Given the description of an element on the screen output the (x, y) to click on. 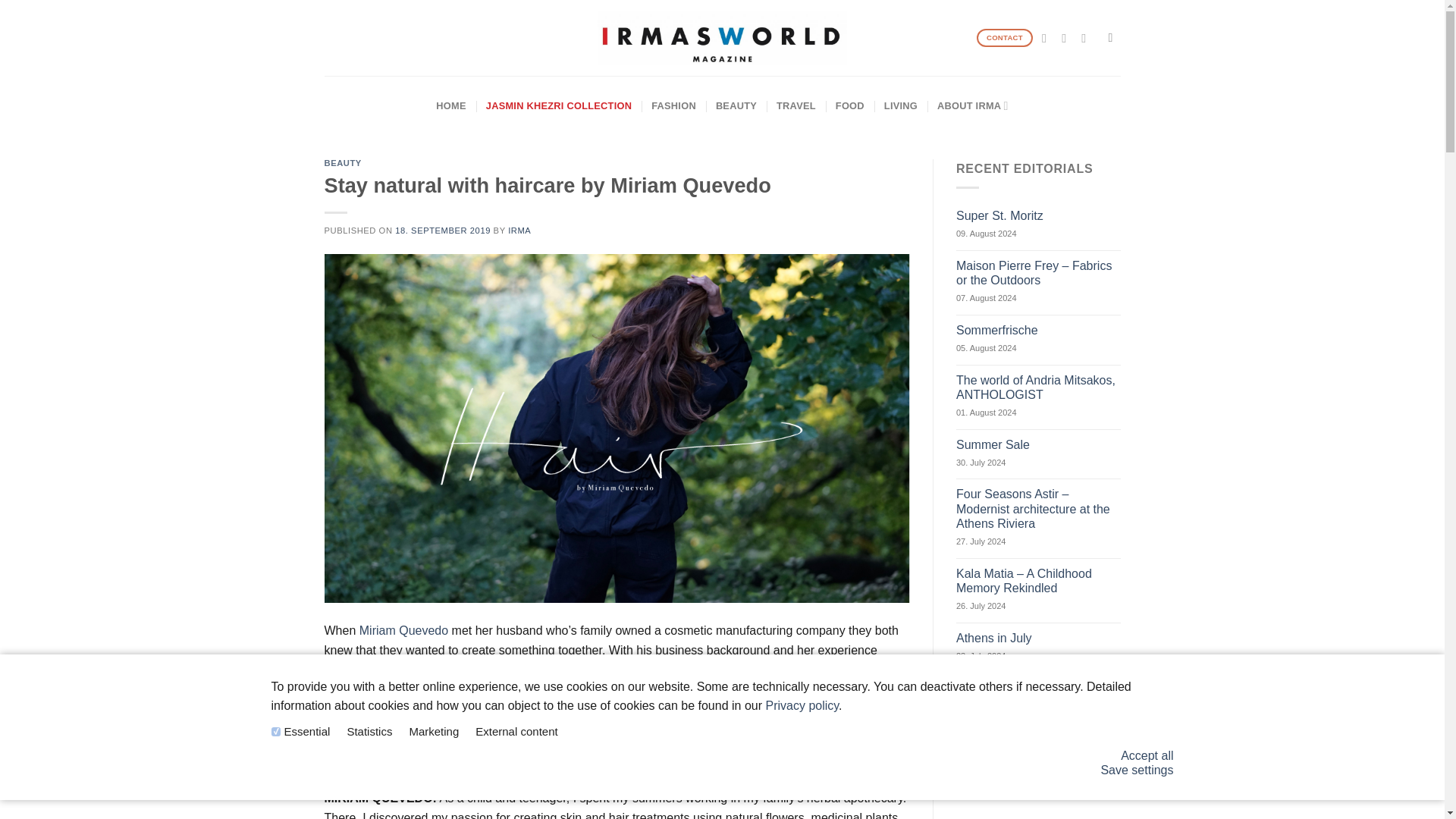
Miriam Quevedo (403, 630)
The world of Andria Mitsakos, ANTHOLOGIST (1038, 387)
ABOUT IRMA (973, 106)
Sommerfrische (1038, 329)
Summer Sale (1038, 444)
Summer Sale (1038, 444)
Follow on Facebook (1048, 38)
JASMIN KHEZRI COLLECTION (558, 106)
BEAUTY (342, 162)
Irmas World - by Jasmin Khezri (721, 37)
